Given the description of an element on the screen output the (x, y) to click on. 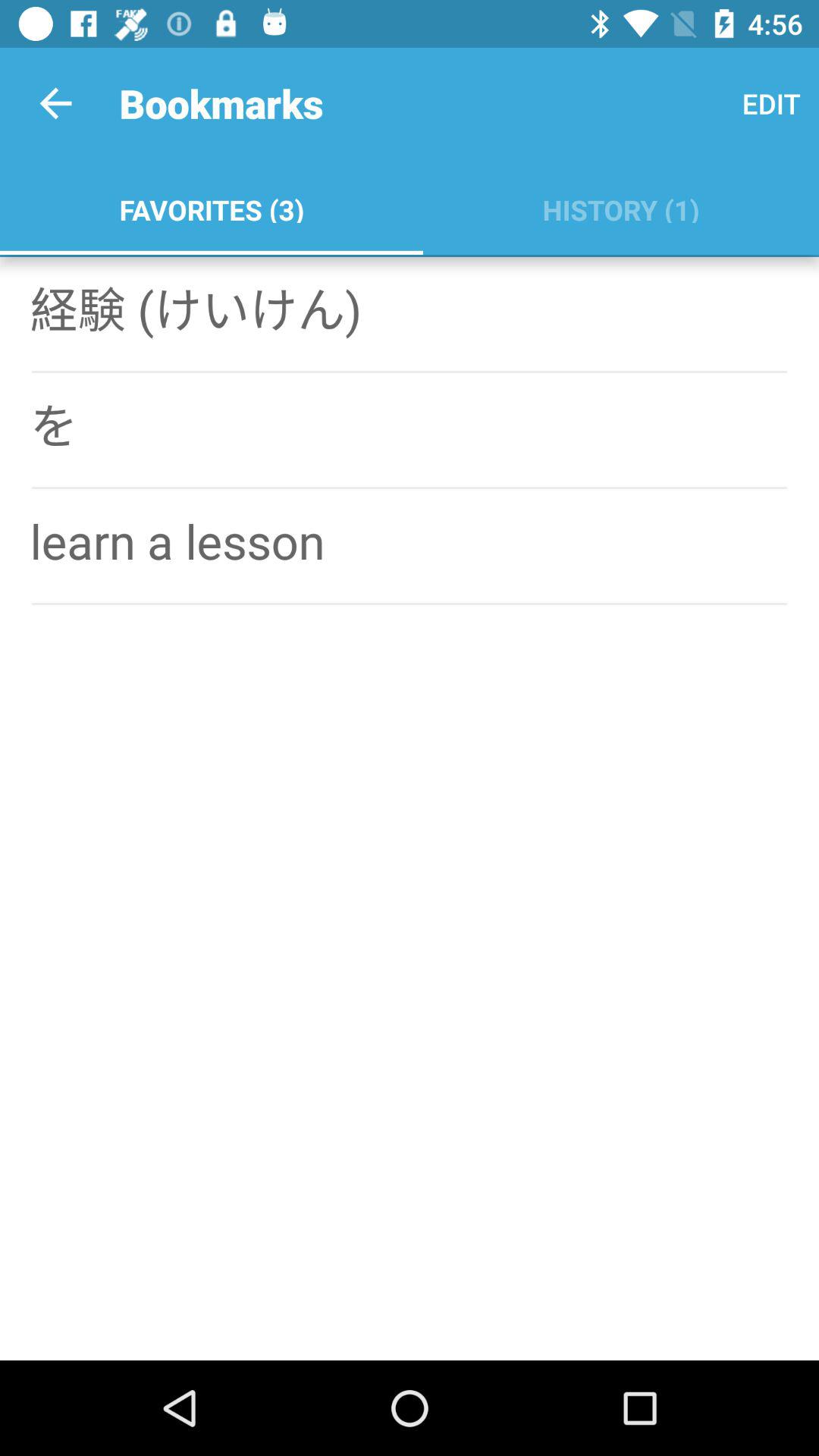
choose app above the history (1) icon (771, 103)
